Given the description of an element on the screen output the (x, y) to click on. 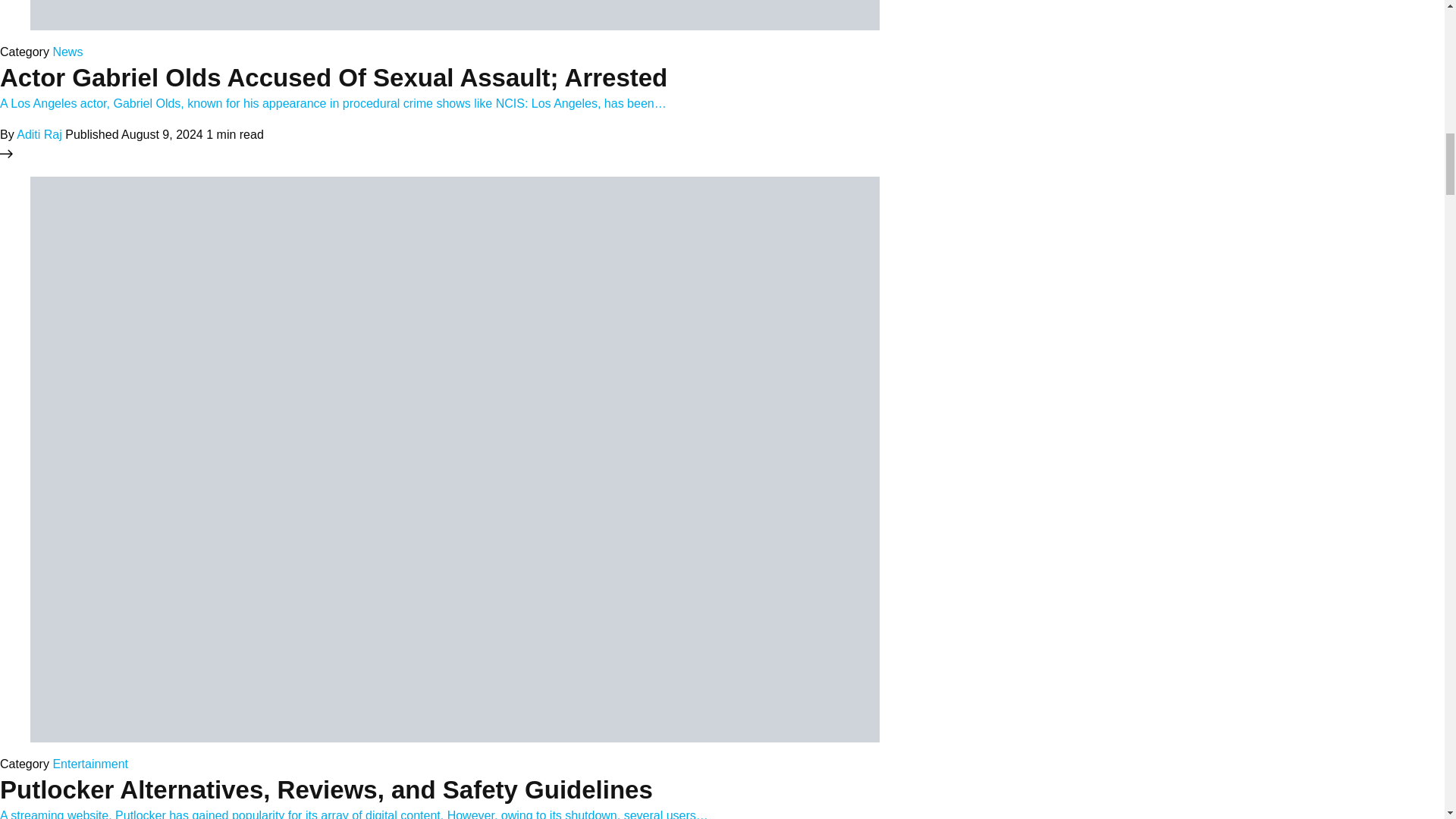
Aditi Raj (39, 133)
Entertainment (90, 763)
News (67, 51)
